Given the description of an element on the screen output the (x, y) to click on. 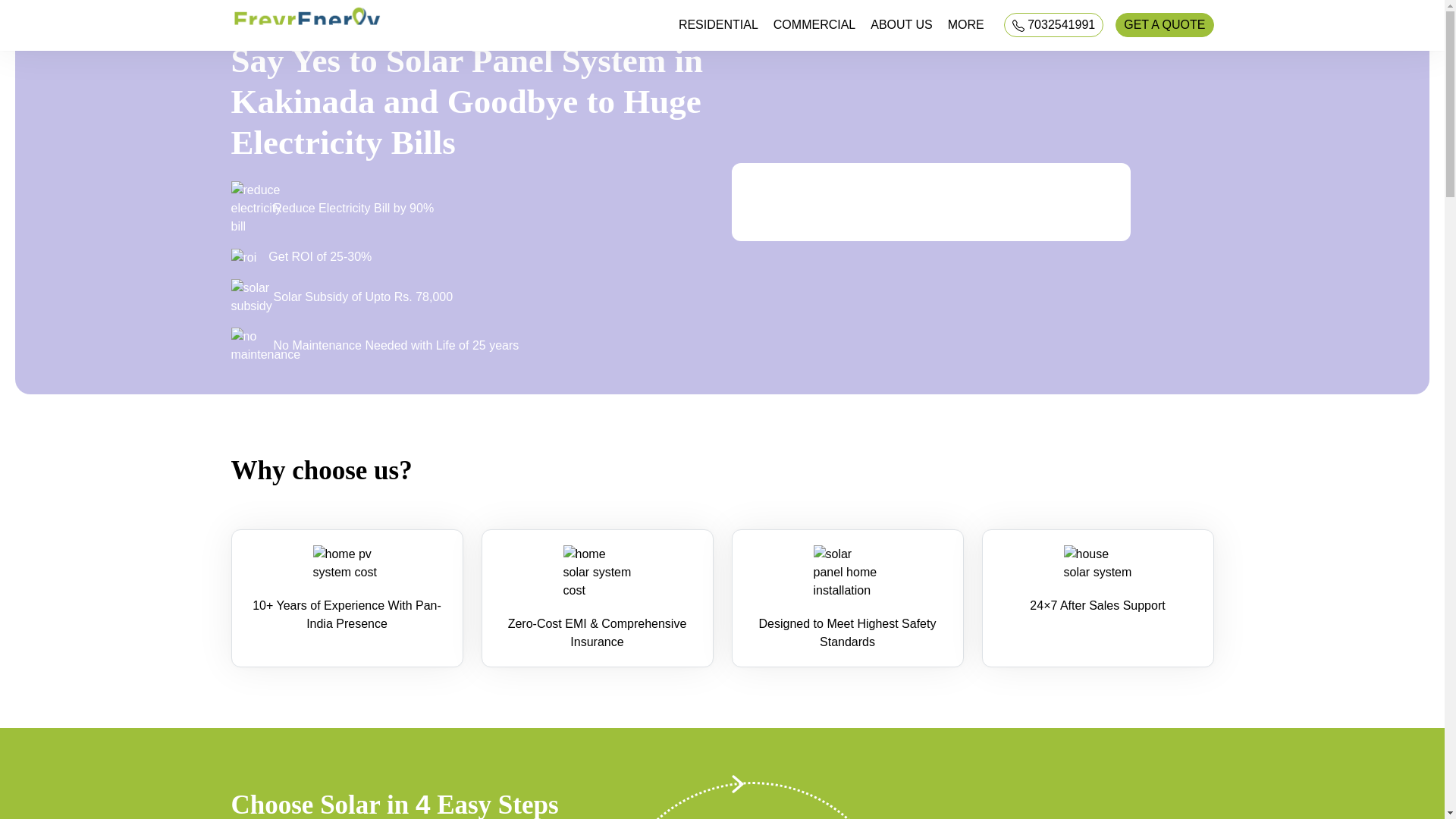
GET A QUOTE (1163, 24)
roi (243, 257)
FREYR ENERGY APP (981, 64)
MORE (965, 24)
home solar system cost (596, 572)
7032541991 (1053, 24)
RESIDENTIAL (718, 24)
BLOGS (981, 46)
home pv system cost (346, 563)
solar subsidy (250, 297)
